Given the description of an element on the screen output the (x, y) to click on. 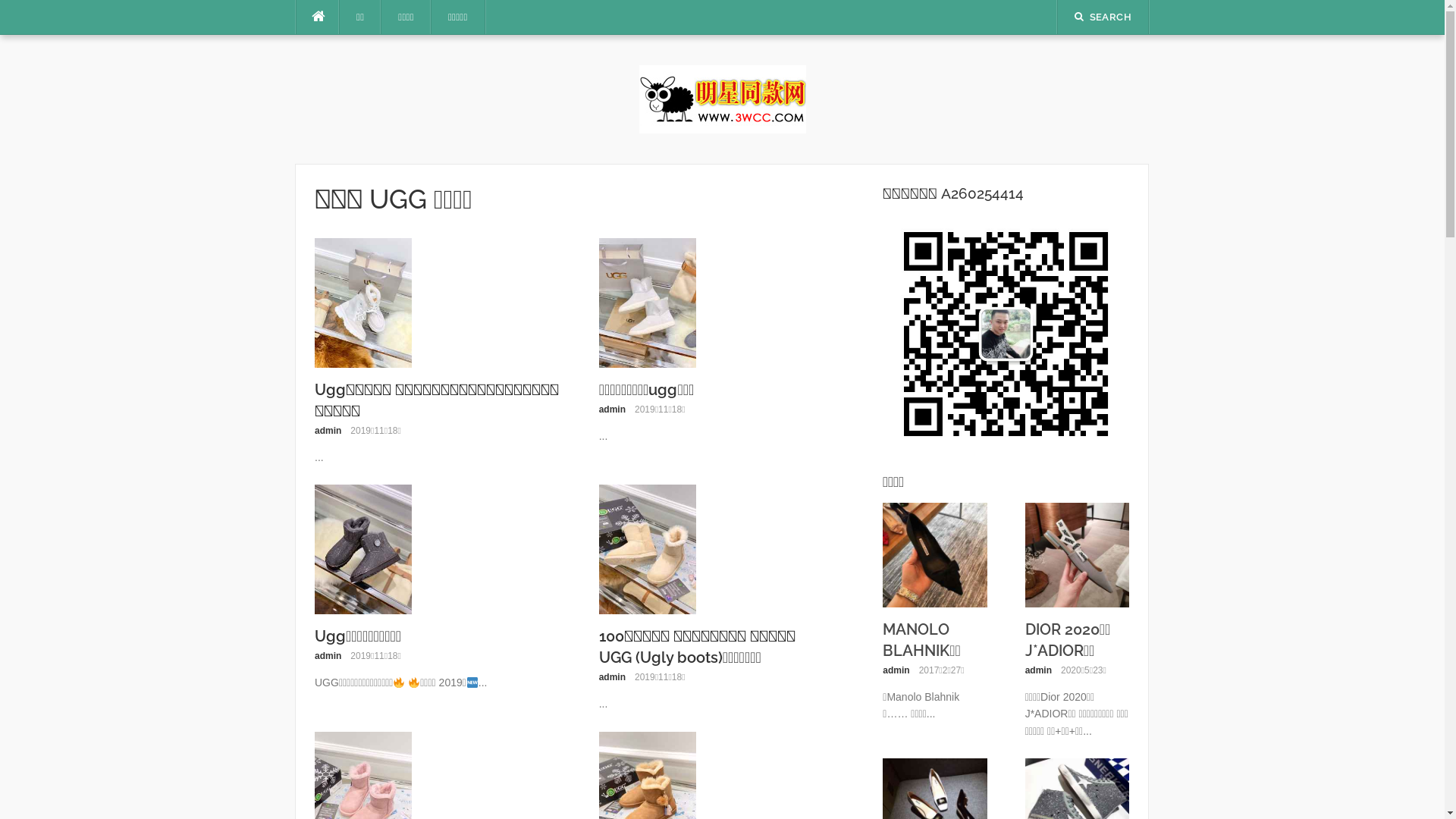
admin Element type: text (612, 676)
admin Element type: text (1038, 670)
SEARCH Element type: text (1102, 16)
admin Element type: text (327, 655)
admin Element type: text (327, 430)
admin Element type: text (612, 409)
admin Element type: text (895, 670)
